Given the description of an element on the screen output the (x, y) to click on. 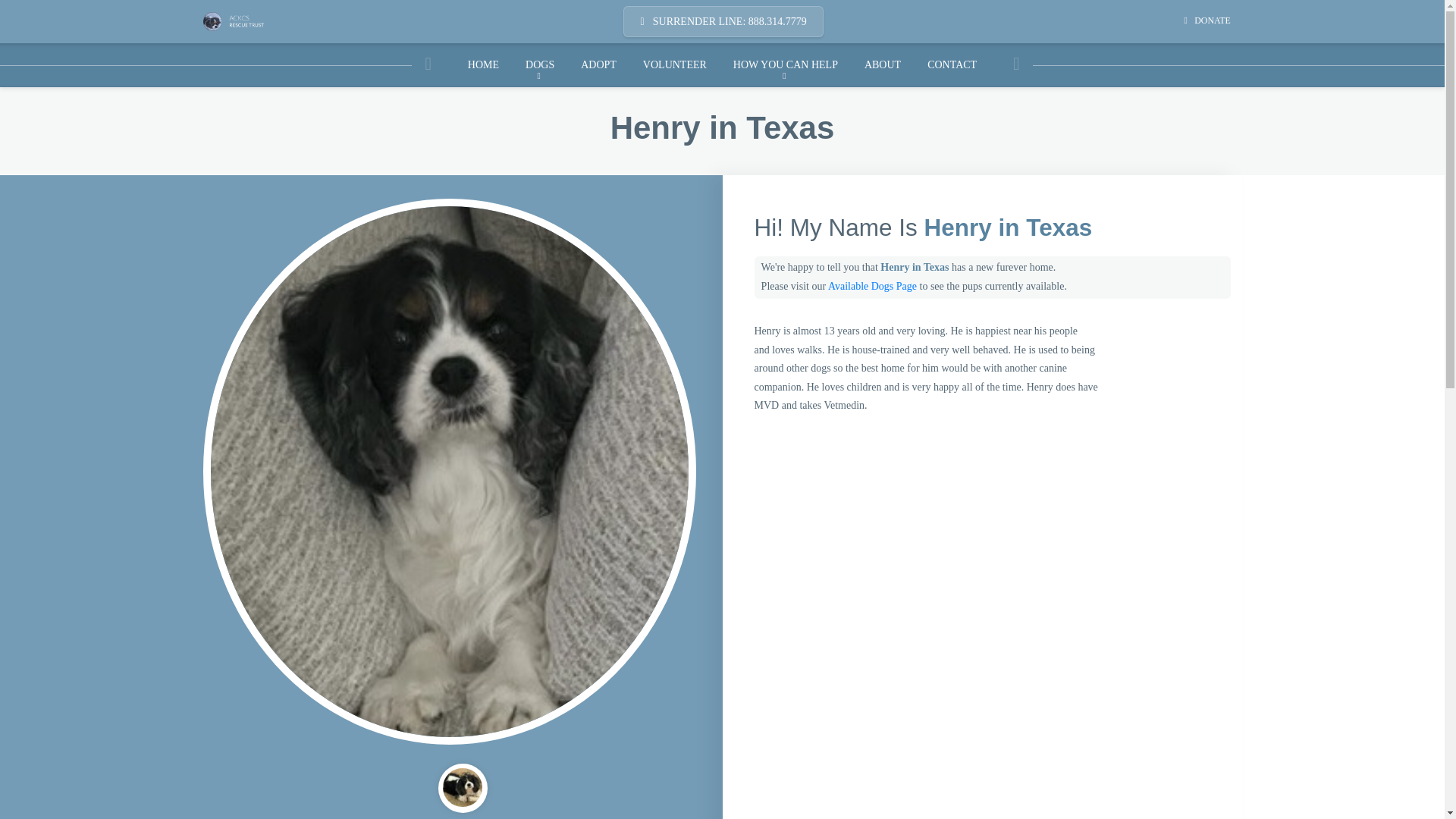
Available Dogs Page (872, 285)
HOME (483, 64)
CONTACT (952, 64)
HOW YOU CAN HELP (784, 64)
ABOUT (882, 64)
DOGS (539, 64)
Donate (1207, 21)
DONATE (1207, 21)
VOLUNTEER (673, 64)
ADOPT (598, 64)
 SURRENDER LINE (722, 20)
Henry in Texas (462, 786)
Cavalier Rescue Trust (233, 21)
SURRENDER LINE: 888.314.7779 (722, 20)
